Given the description of an element on the screen output the (x, y) to click on. 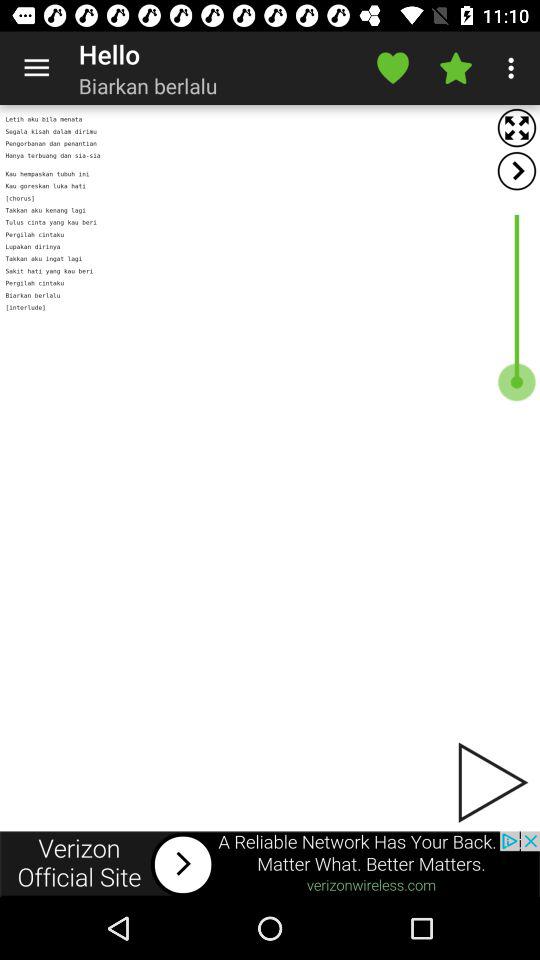
advertisement (270, 468)
